Given the description of an element on the screen output the (x, y) to click on. 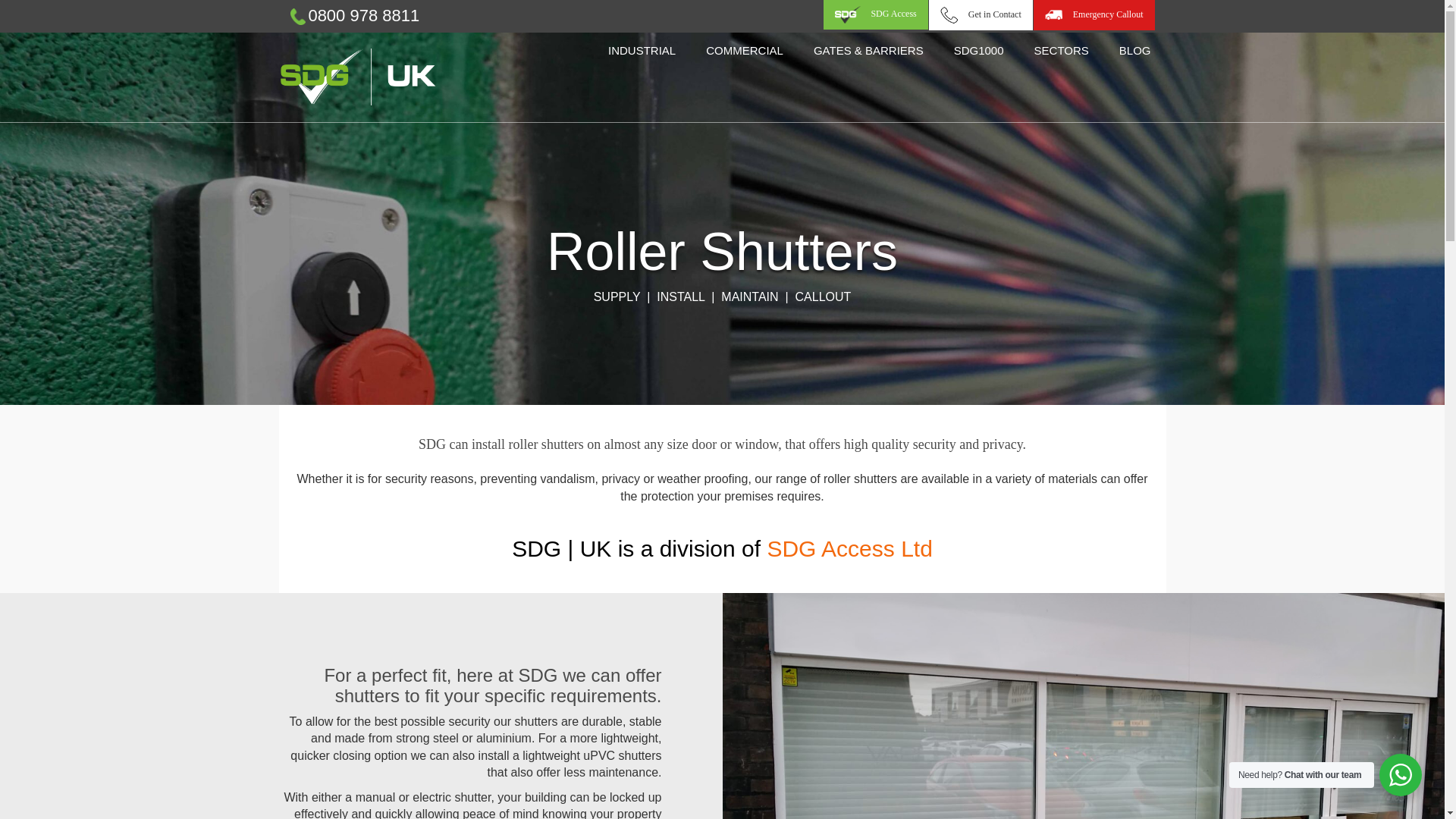
Emergency Callout (1093, 15)
SDG Access (875, 14)
SDG1000 (979, 51)
Get in Contact (980, 15)
Call us on 0800 978 8811 (296, 16)
Contact SDG Access (949, 14)
SDG Access Ltd (849, 548)
COMMERCIAL (743, 51)
SDG Access (847, 14)
INDUSTRIAL (641, 51)
Get in Contact (980, 15)
 Emergency Callout  (1053, 14)
0800 978 8811 (363, 15)
SDG Access (875, 14)
Emergency Callout (1093, 15)
